Given the description of an element on the screen output the (x, y) to click on. 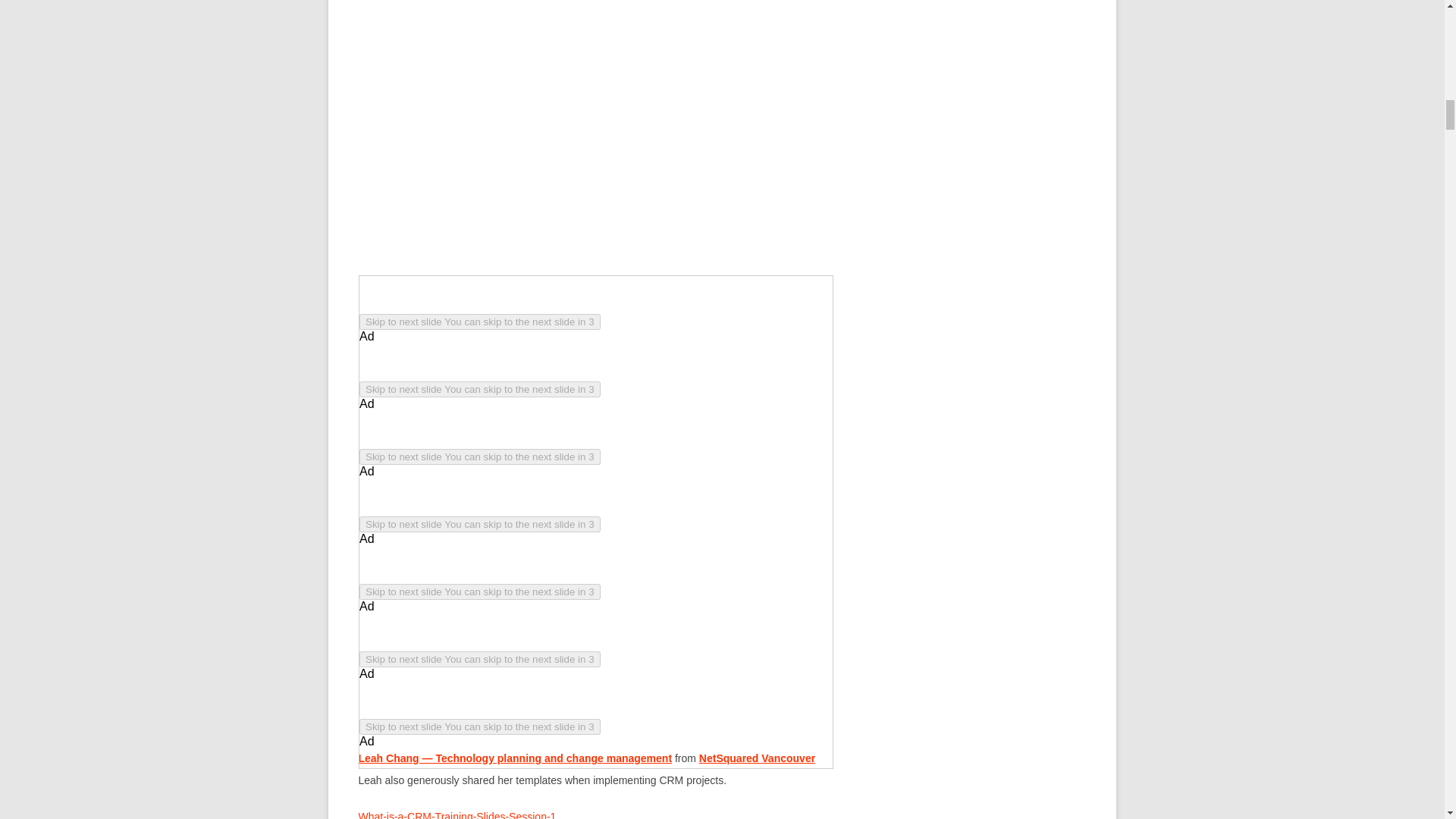
NetSquared Vancouver (756, 758)
What-is-a-CRM-Training-Slides-Session-1 (457, 814)
